Given the description of an element on the screen output the (x, y) to click on. 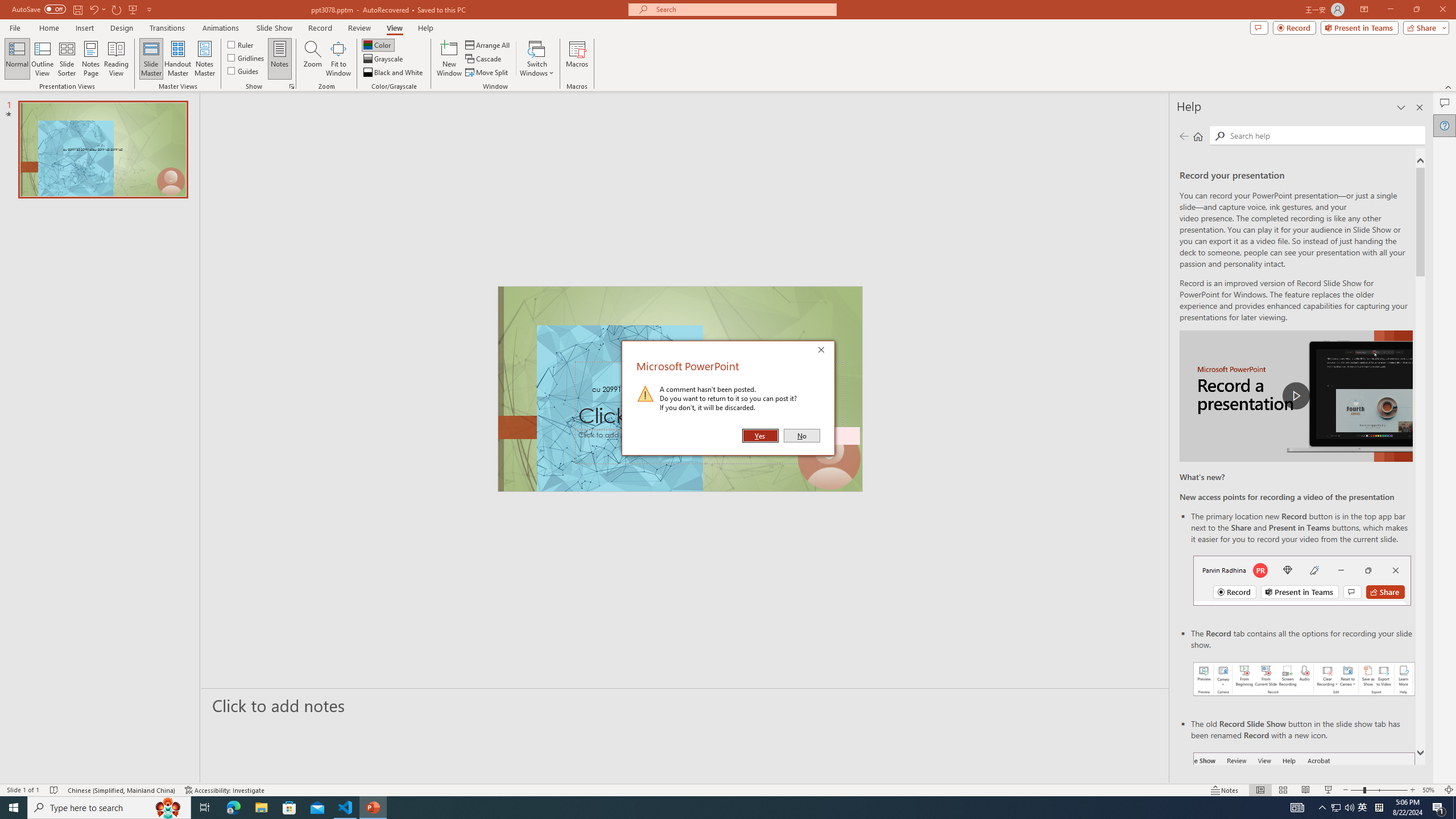
Yes (760, 435)
Home (48, 28)
AutomationID: 4105 (1297, 807)
play Record a Presentation (1296, 395)
